Given the description of an element on the screen output the (x, y) to click on. 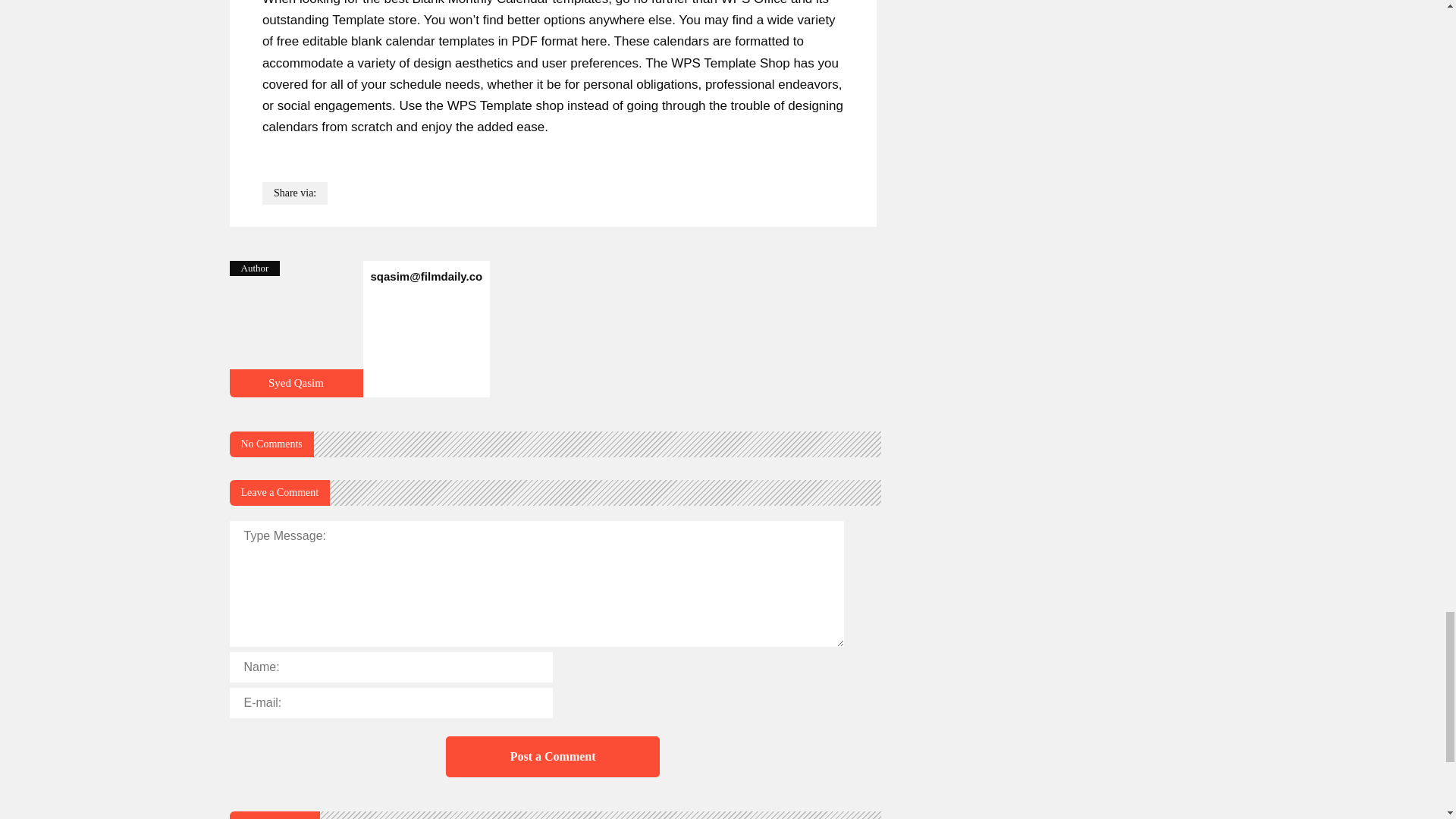
Post a Comment (552, 756)
